Given the description of an element on the screen output the (x, y) to click on. 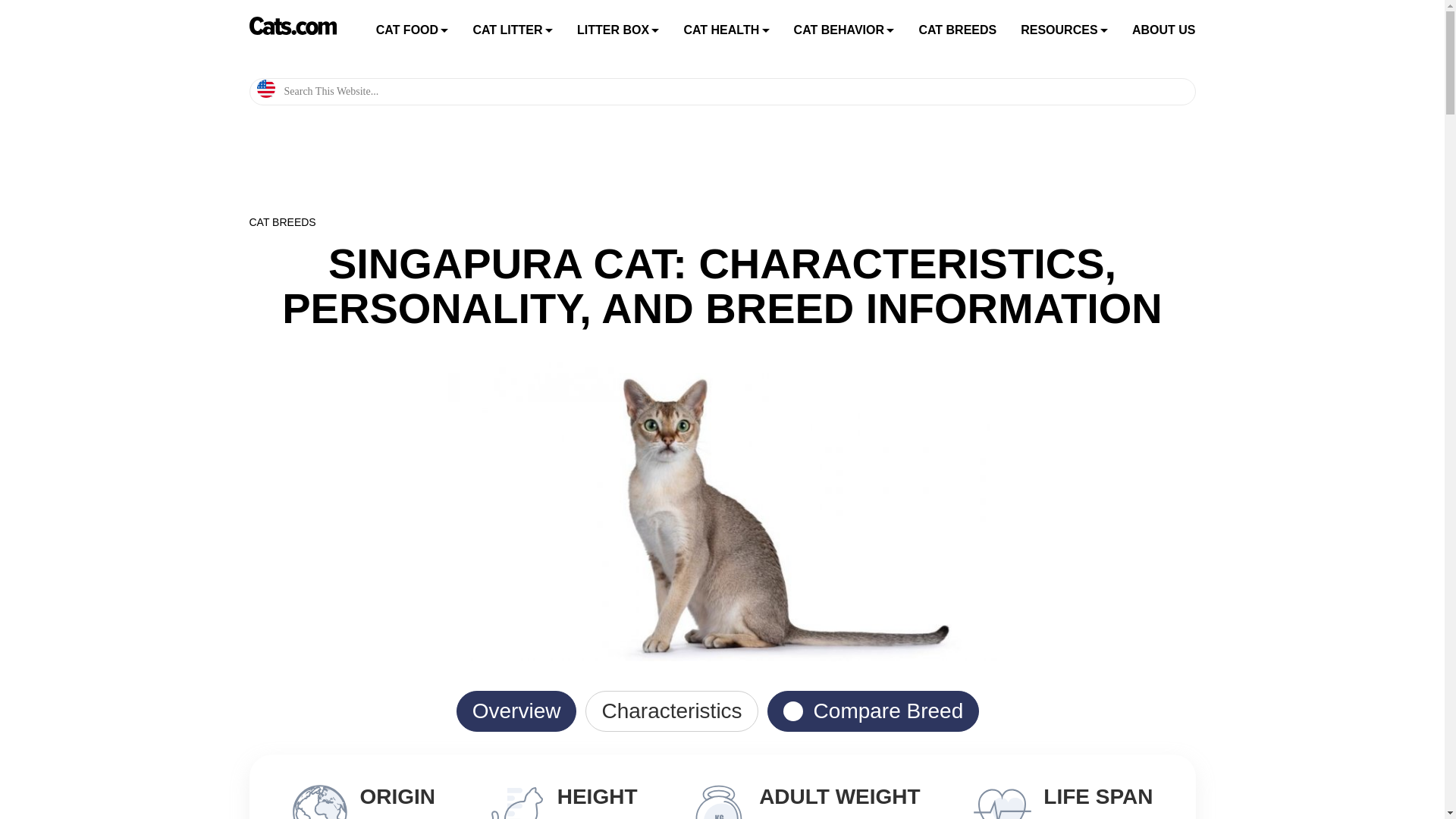
BEST RATED (646, 65)
ABOUT US (1163, 29)
SELF-CLEANING (646, 91)
BEST RATED (541, 65)
PREVENTIVE CARE (751, 91)
LITTER BOX (612, 29)
KITTEN FOOD (445, 144)
CAT INSURANCE (751, 65)
KITTEN LITTER (541, 144)
